Given the description of an element on the screen output the (x, y) to click on. 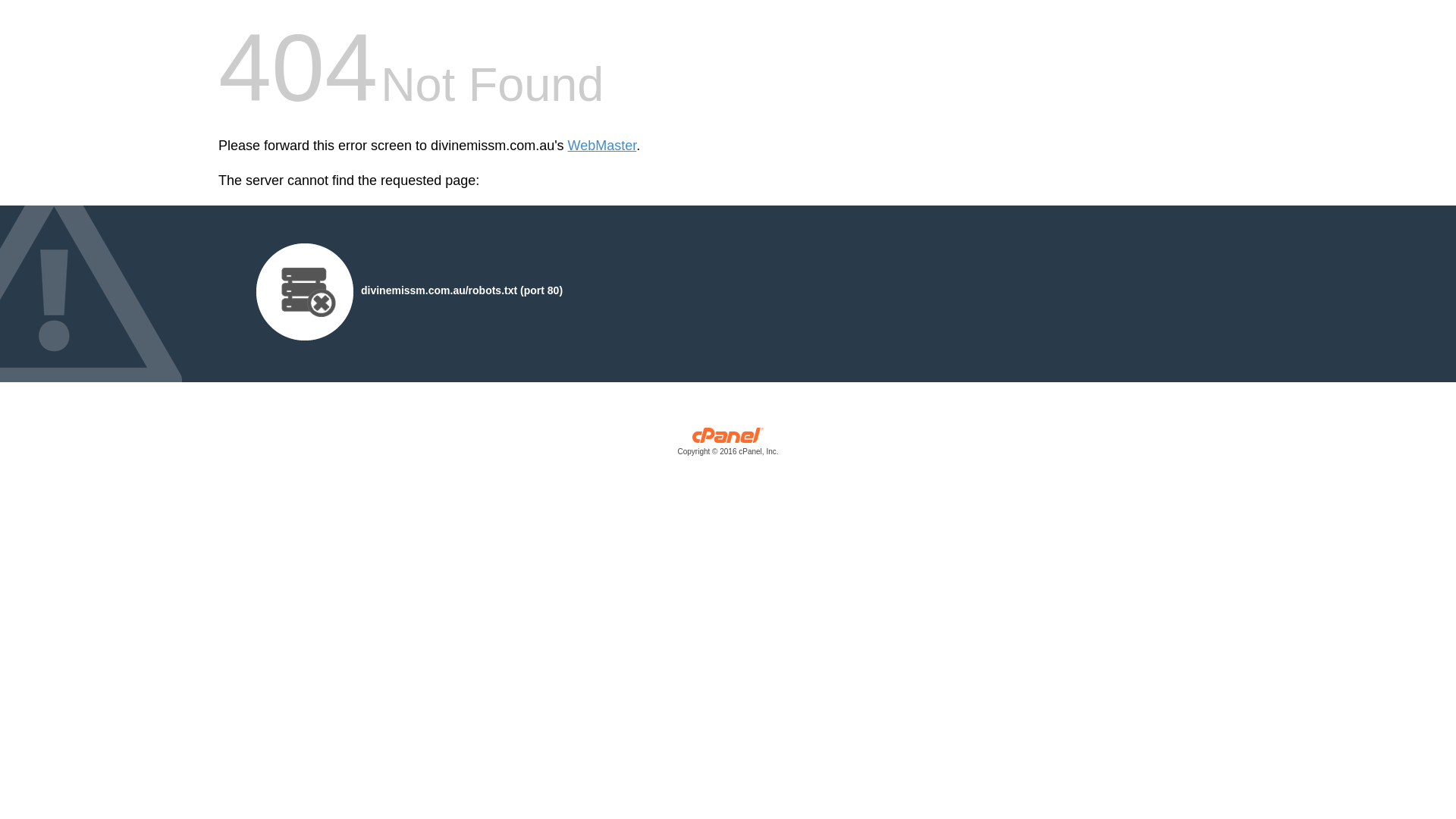
WebMaster Element type: text (602, 145)
